Given the description of an element on the screen output the (x, y) to click on. 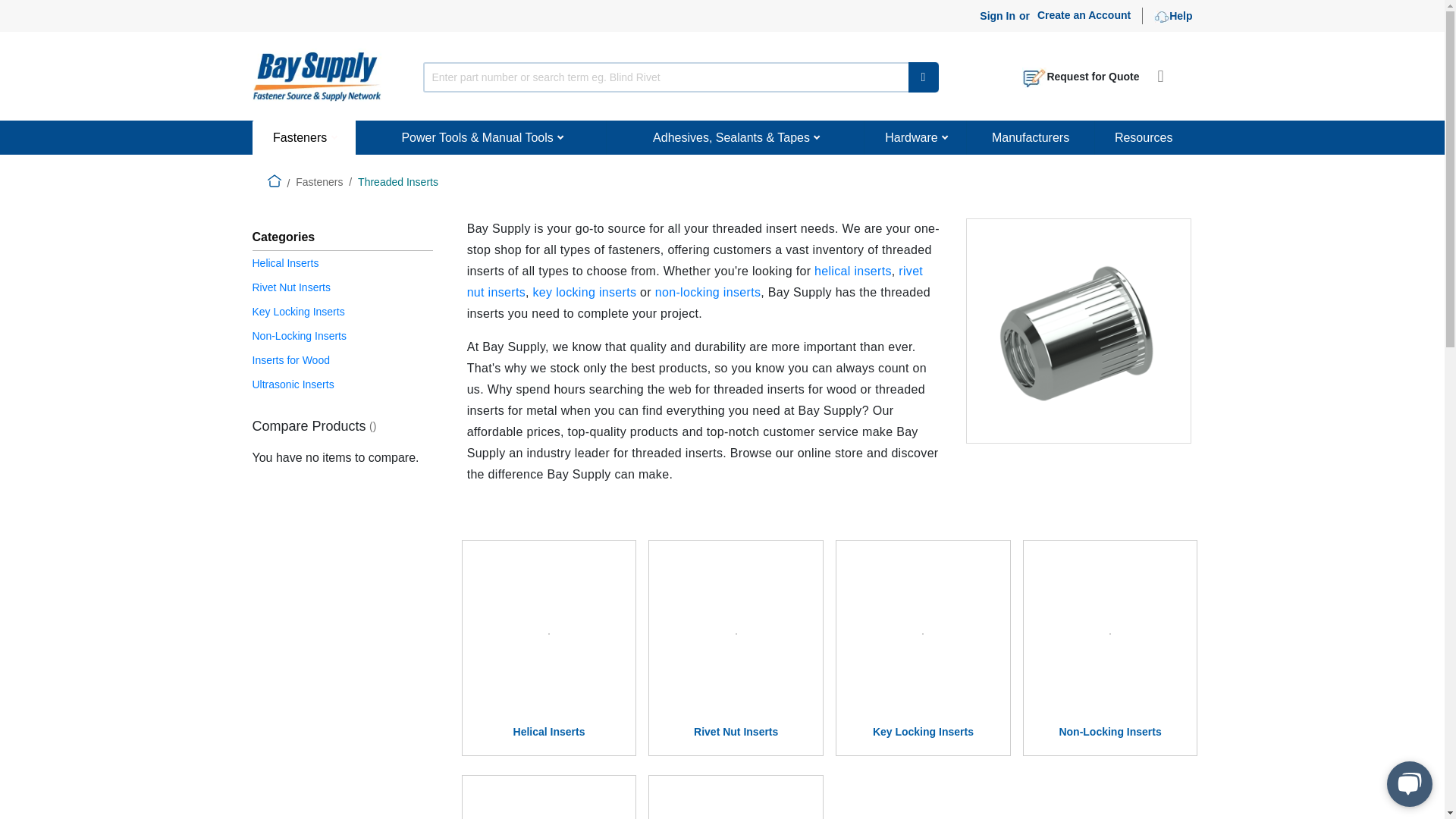
Search (923, 77)
Search (923, 77)
Fasteners and Rivets: Bay Supply Fastening Systems (315, 74)
Fasteners (303, 137)
Sign In (996, 16)
Request for Quote (1080, 76)
Help (1173, 16)
Create an Account (1083, 15)
My Cart (1165, 81)
RFQ header icon (1034, 77)
